Given the description of an element on the screen output the (x, y) to click on. 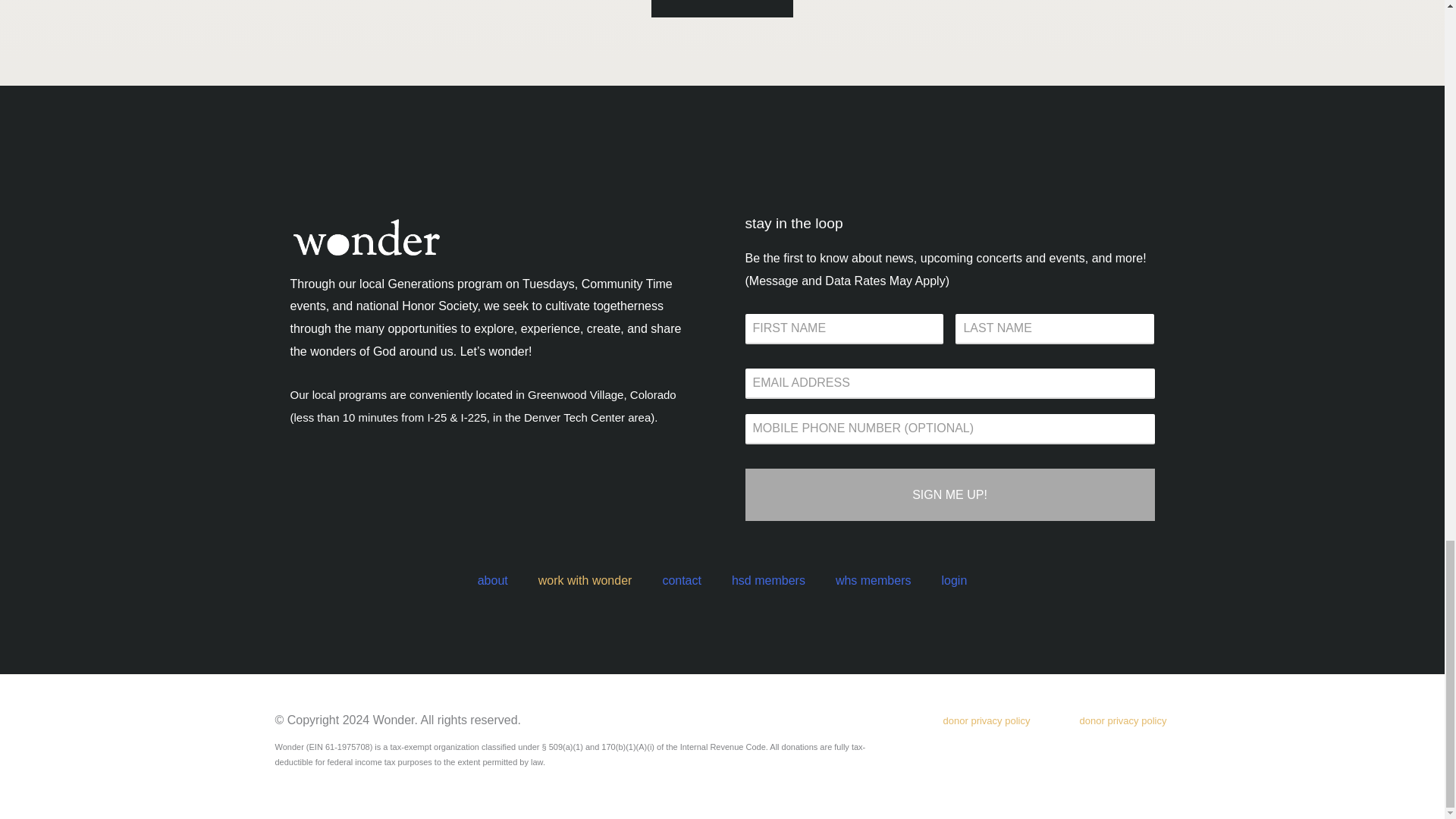
SIGN ME UP! (949, 494)
